Given the description of an element on the screen output the (x, y) to click on. 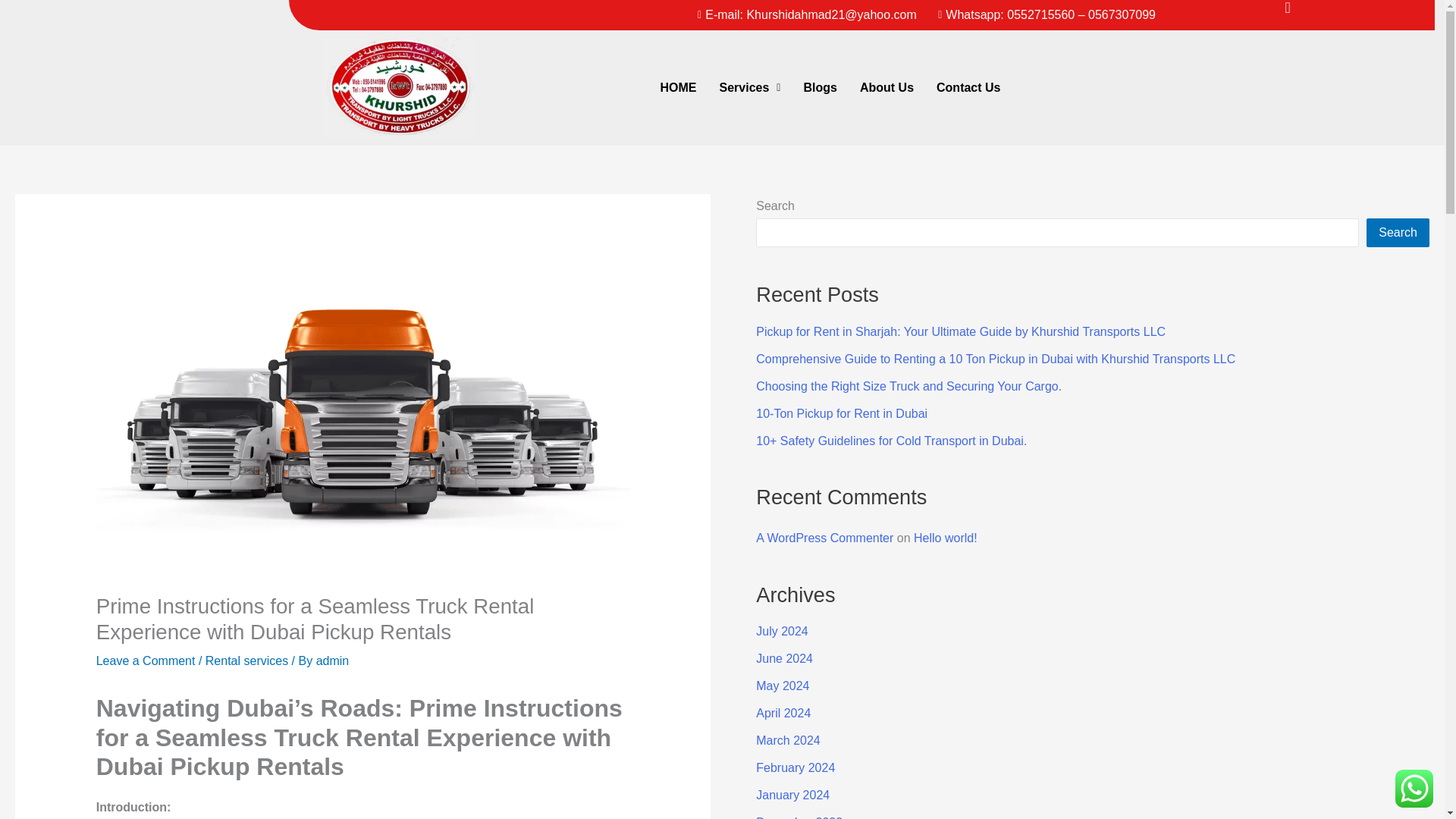
Blogs (819, 87)
December 2023 (799, 817)
Search (1398, 232)
A WordPress Commenter (824, 537)
Services (749, 87)
HOME (678, 87)
February 2024 (794, 767)
July 2024 (781, 631)
June 2024 (783, 658)
Contact Us (967, 87)
March 2024 (788, 739)
Choosing the Right Size Truck and Securing Your Cargo. (908, 386)
May 2024 (782, 685)
Leave a Comment (145, 660)
Hello world! (945, 537)
